Given the description of an element on the screen output the (x, y) to click on. 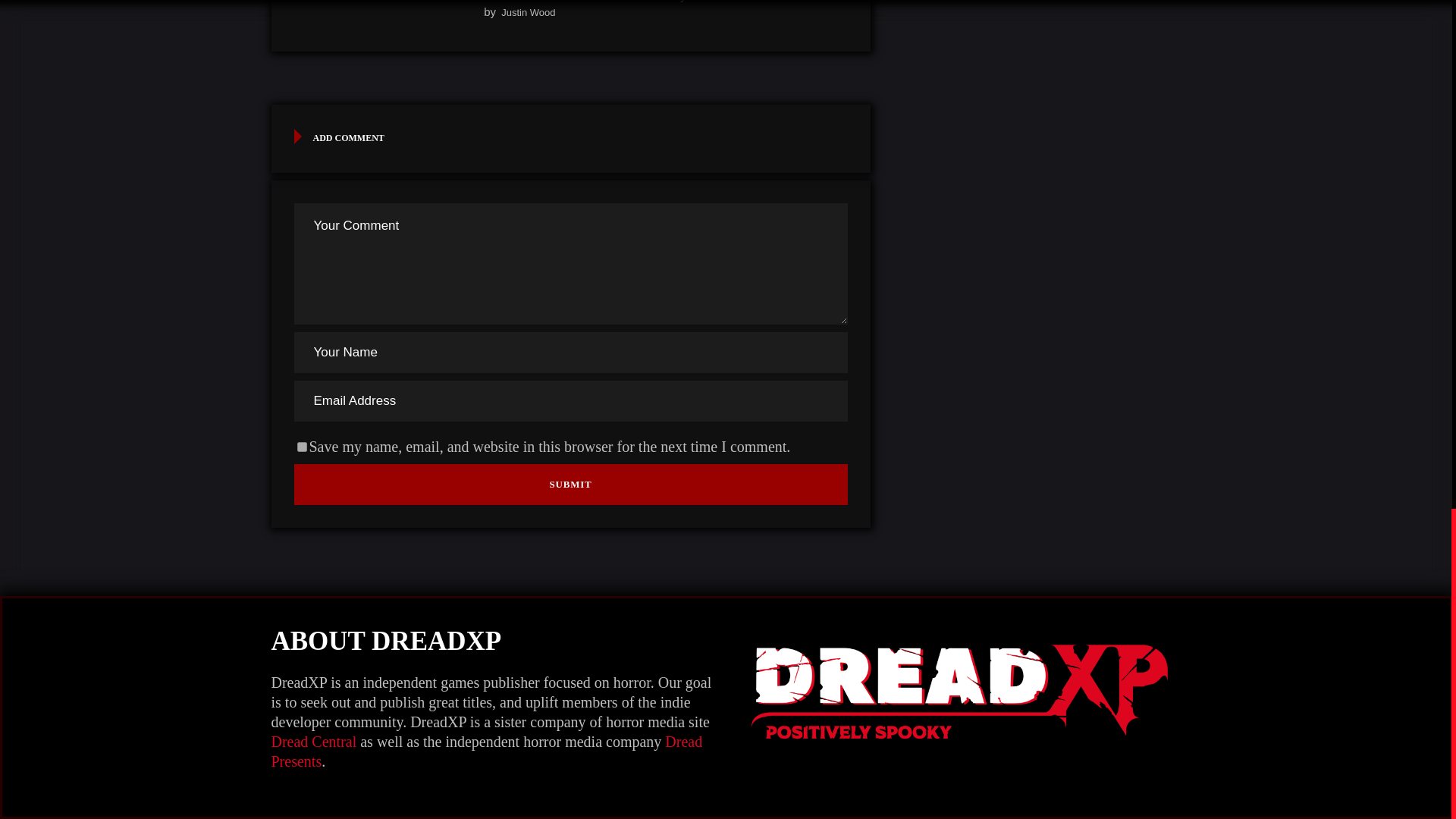
yes (302, 447)
Submit (570, 484)
